Given the description of an element on the screen output the (x, y) to click on. 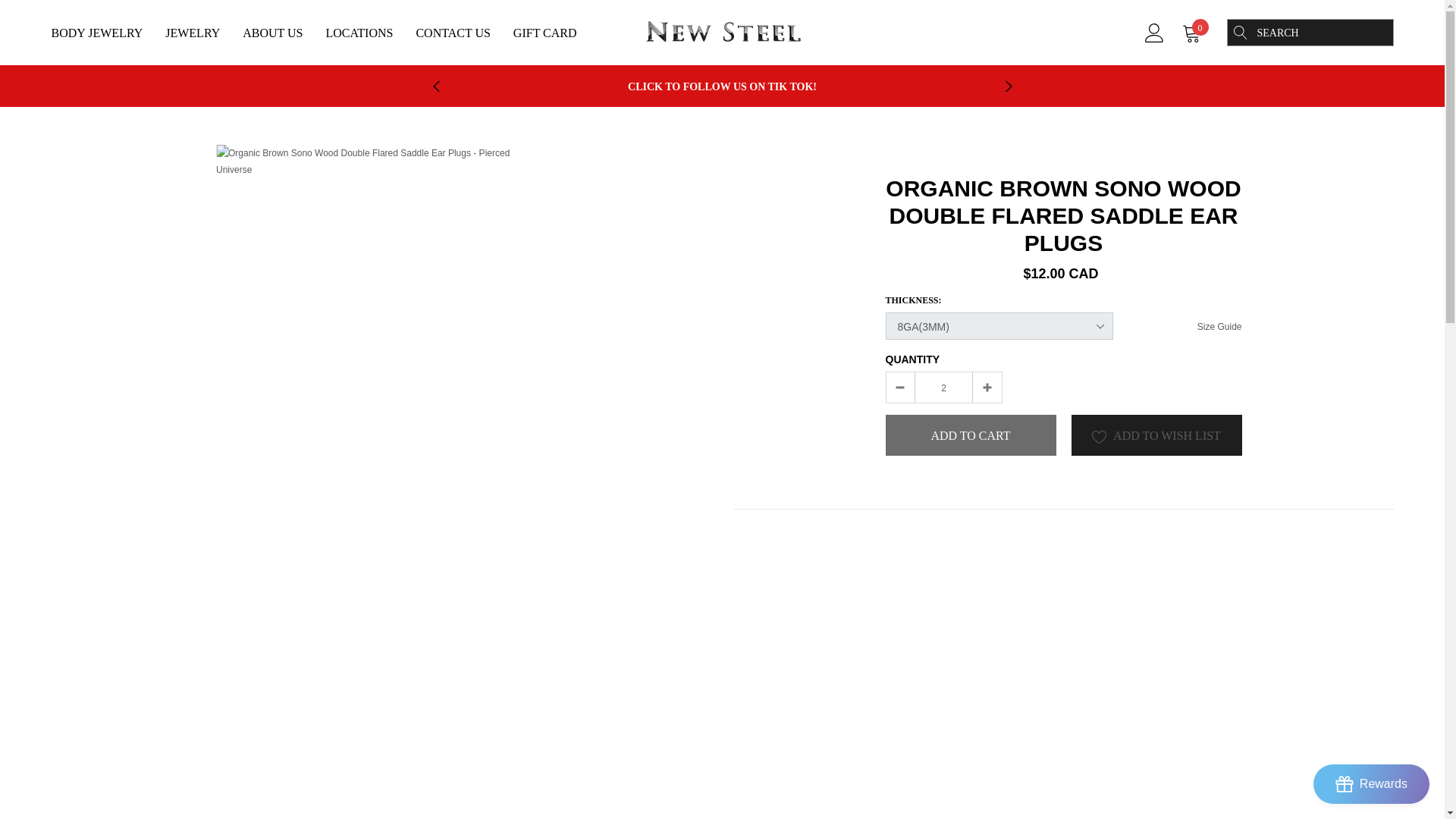
search (1239, 32)
BODY JEWELRY (96, 32)
2 (943, 387)
